Given the description of an element on the screen output the (x, y) to click on. 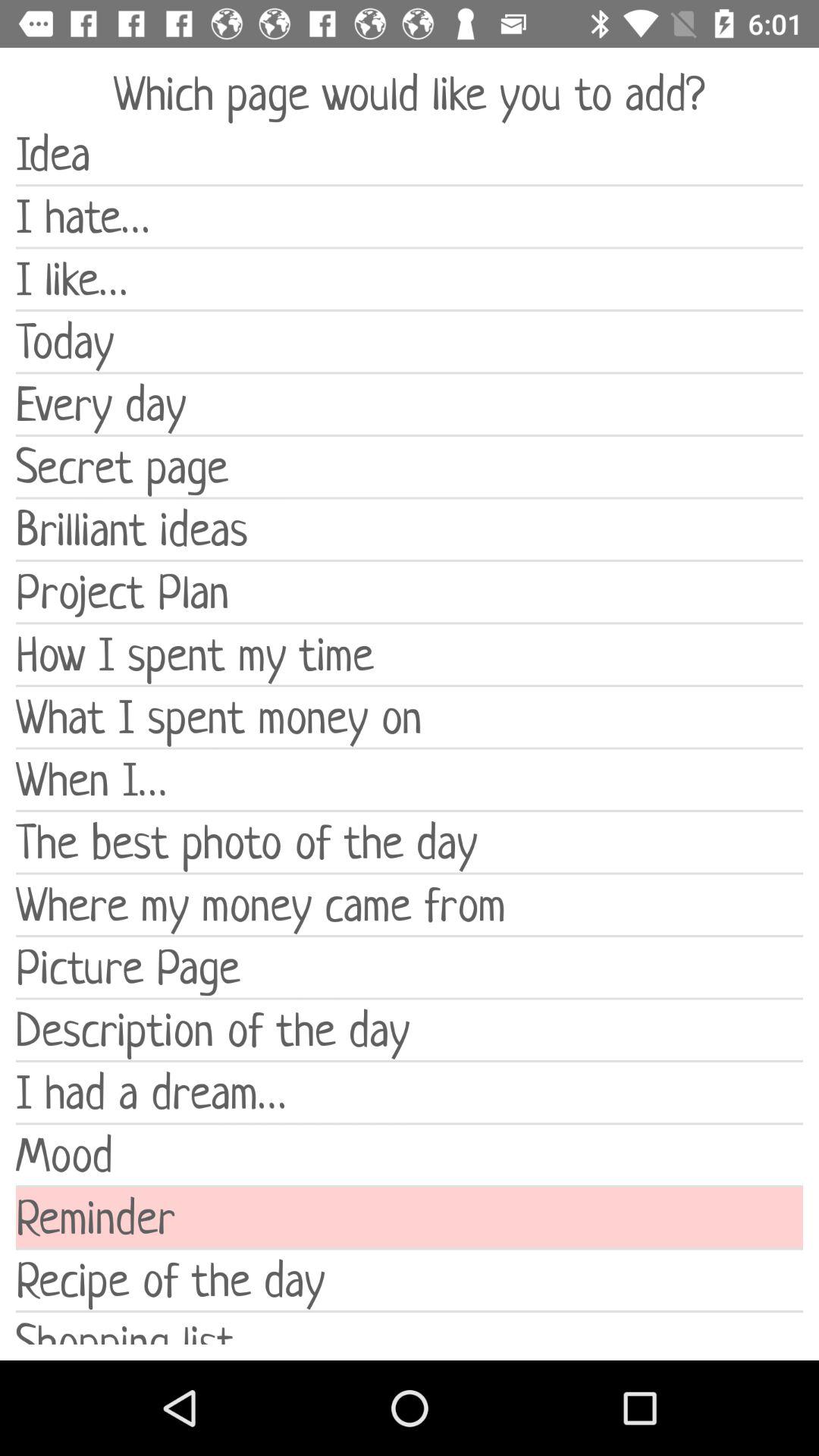
select icon above the every day item (409, 341)
